Given the description of an element on the screen output the (x, y) to click on. 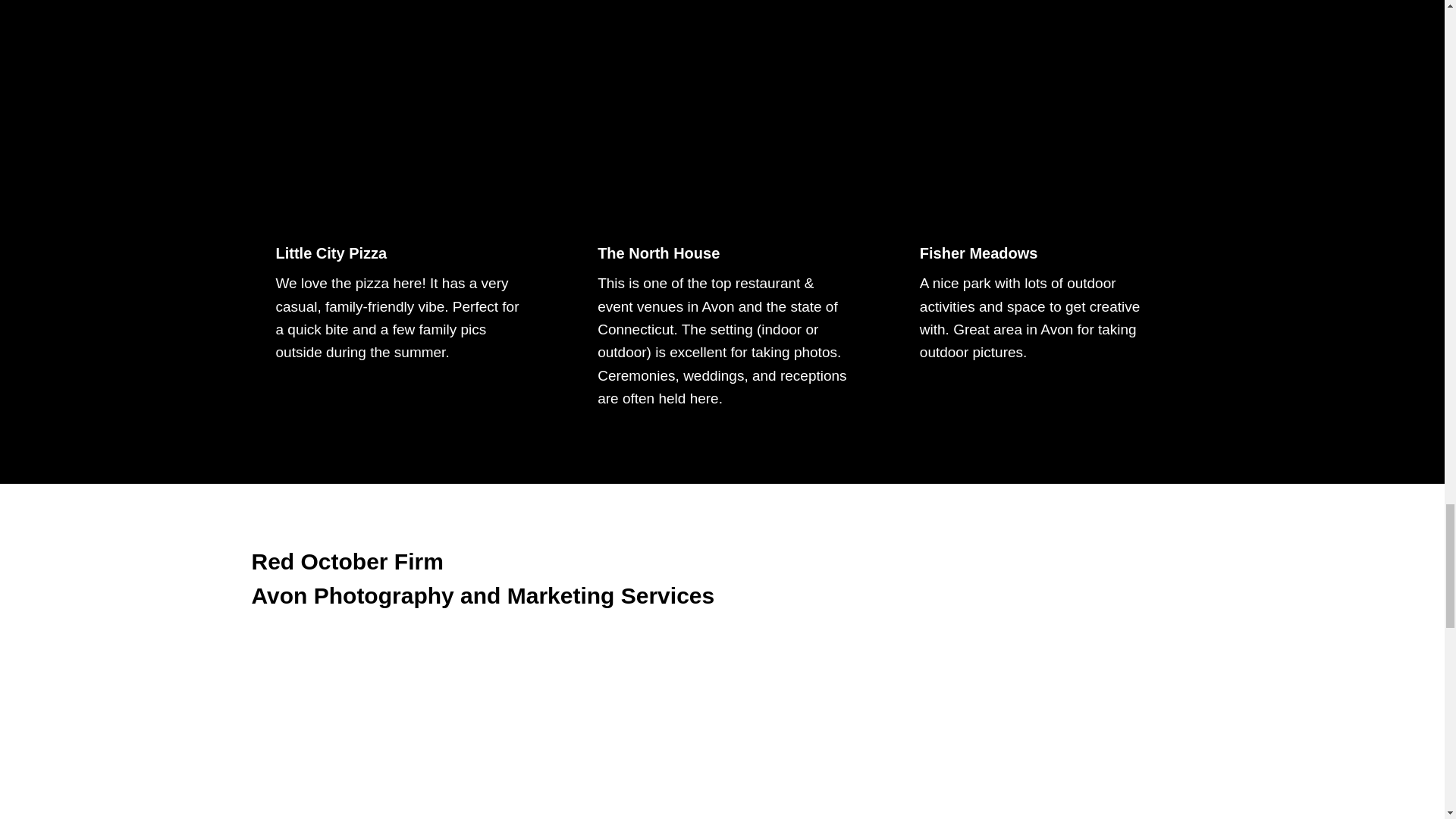
Fisher Meadows (979, 252)
Avon (1044, 743)
Avon (1044, 133)
Avon (721, 743)
Avon (400, 743)
Little City Pizza (331, 252)
Avon (721, 133)
Avon (400, 133)
The North House (657, 252)
